Given the description of an element on the screen output the (x, y) to click on. 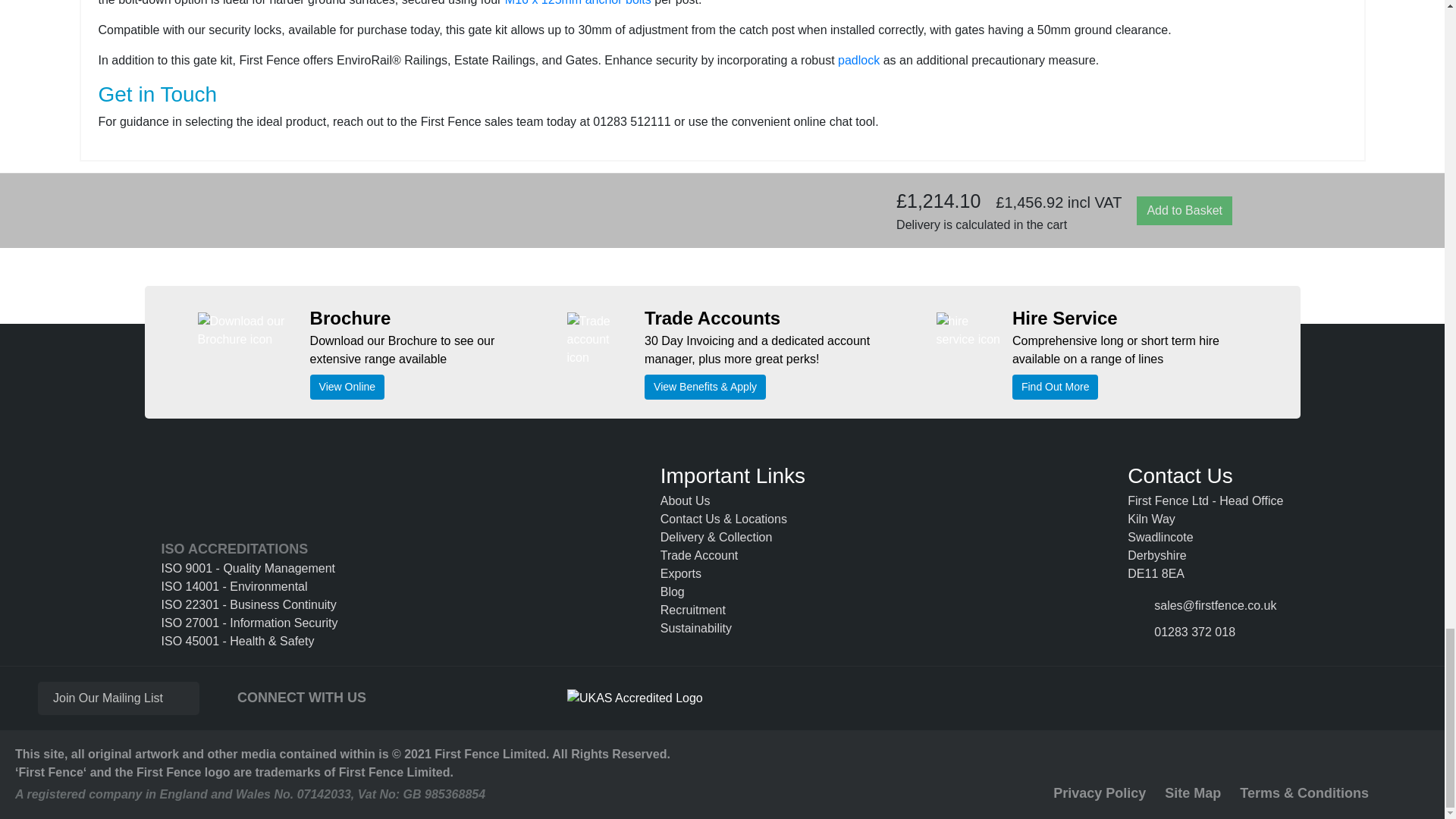
M16 x 125mm anchor bolts (577, 2)
Find Out More (1054, 386)
View Online (347, 386)
padlock (858, 60)
ISO 14001 - Environmental (249, 587)
ISO 22301 - Business Continuity (249, 605)
ISO 9001 - Quality Management (249, 568)
ISO 27001 - Information Security (249, 623)
